Given the description of an element on the screen output the (x, y) to click on. 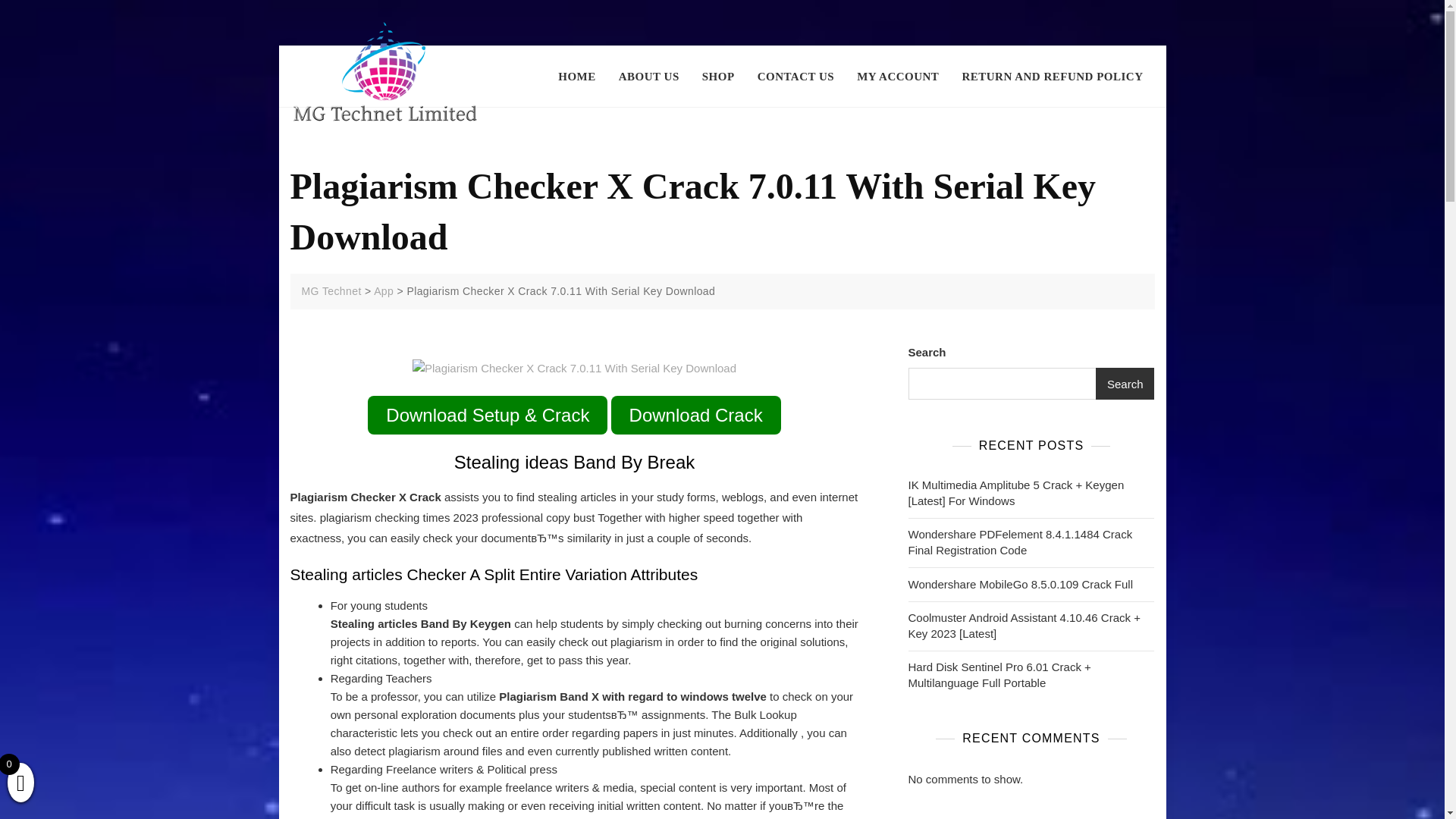
MY ACCOUNT (897, 76)
ABOUT US (648, 76)
Go to MG Technet. (331, 291)
HOME (582, 76)
Download Crack (695, 414)
Go to the App Category archives. (383, 291)
App (383, 291)
RETURN AND REFUND POLICY (1052, 76)
SHOP (717, 76)
CONTACT US (795, 76)
MG Technet (331, 291)
